Given the description of an element on the screen output the (x, y) to click on. 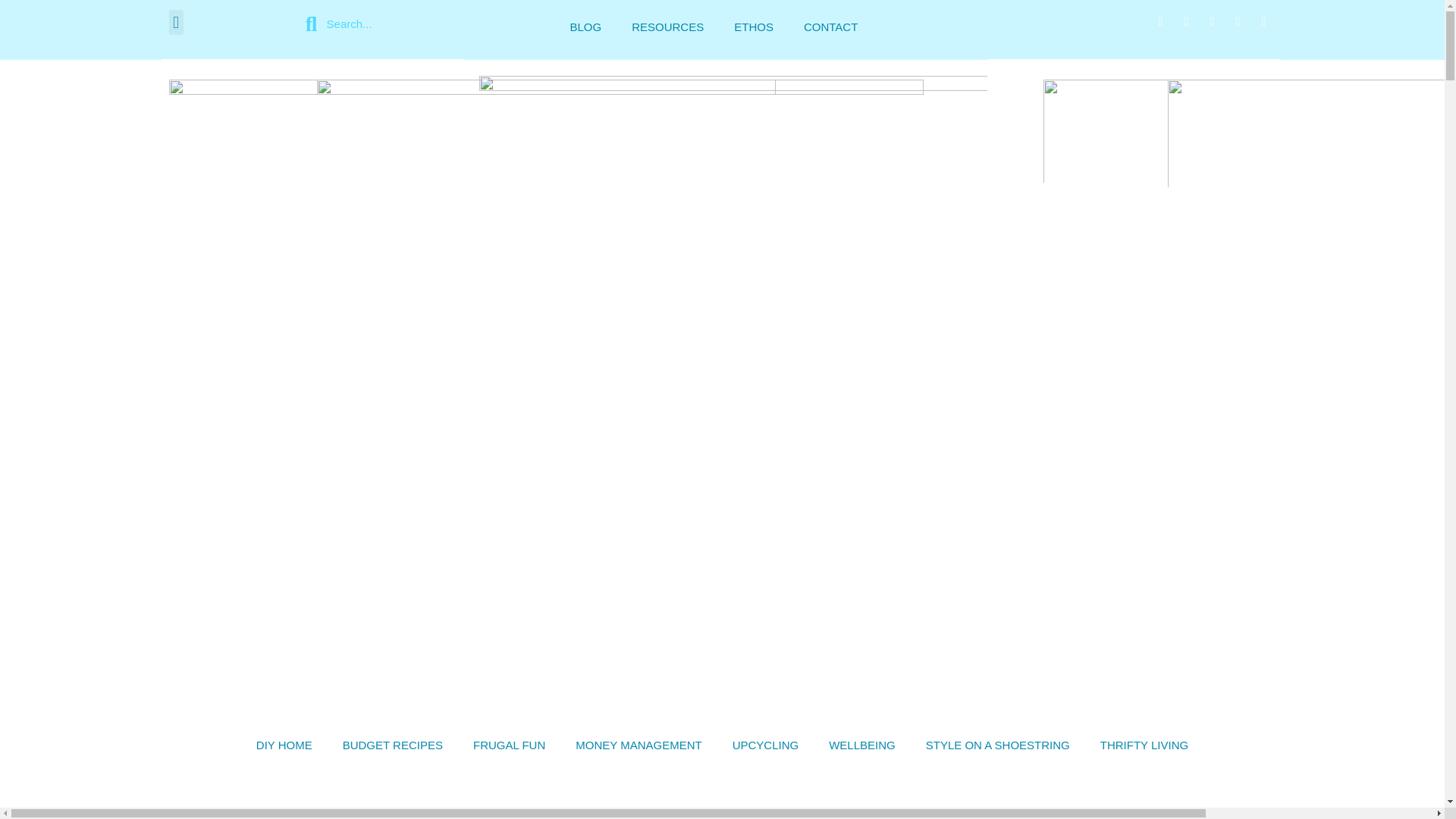
RESOURCES (667, 27)
CONTACT (830, 27)
BLOG (585, 27)
ETHOS (754, 27)
